Given the description of an element on the screen output the (x, y) to click on. 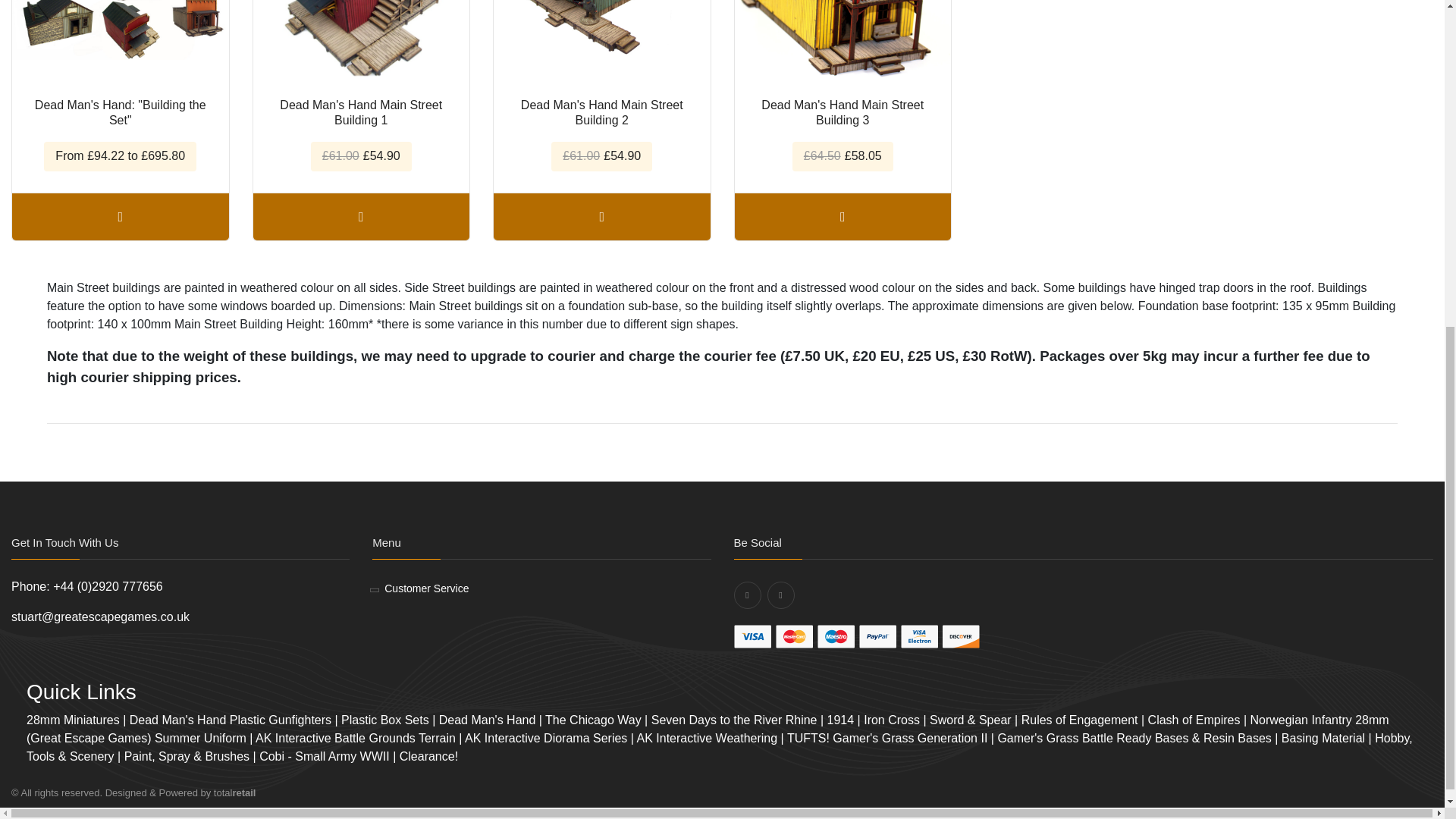
Dead Man's Hand Main Street Building 3 (841, 43)
Dead Man's Hand:  (119, 43)
Customer Service (426, 588)
Dead Man's Hand Main Street Building 2 (601, 43)
Dead Man's Hand Main Street Building 1 (361, 43)
